Given the description of an element on the screen output the (x, y) to click on. 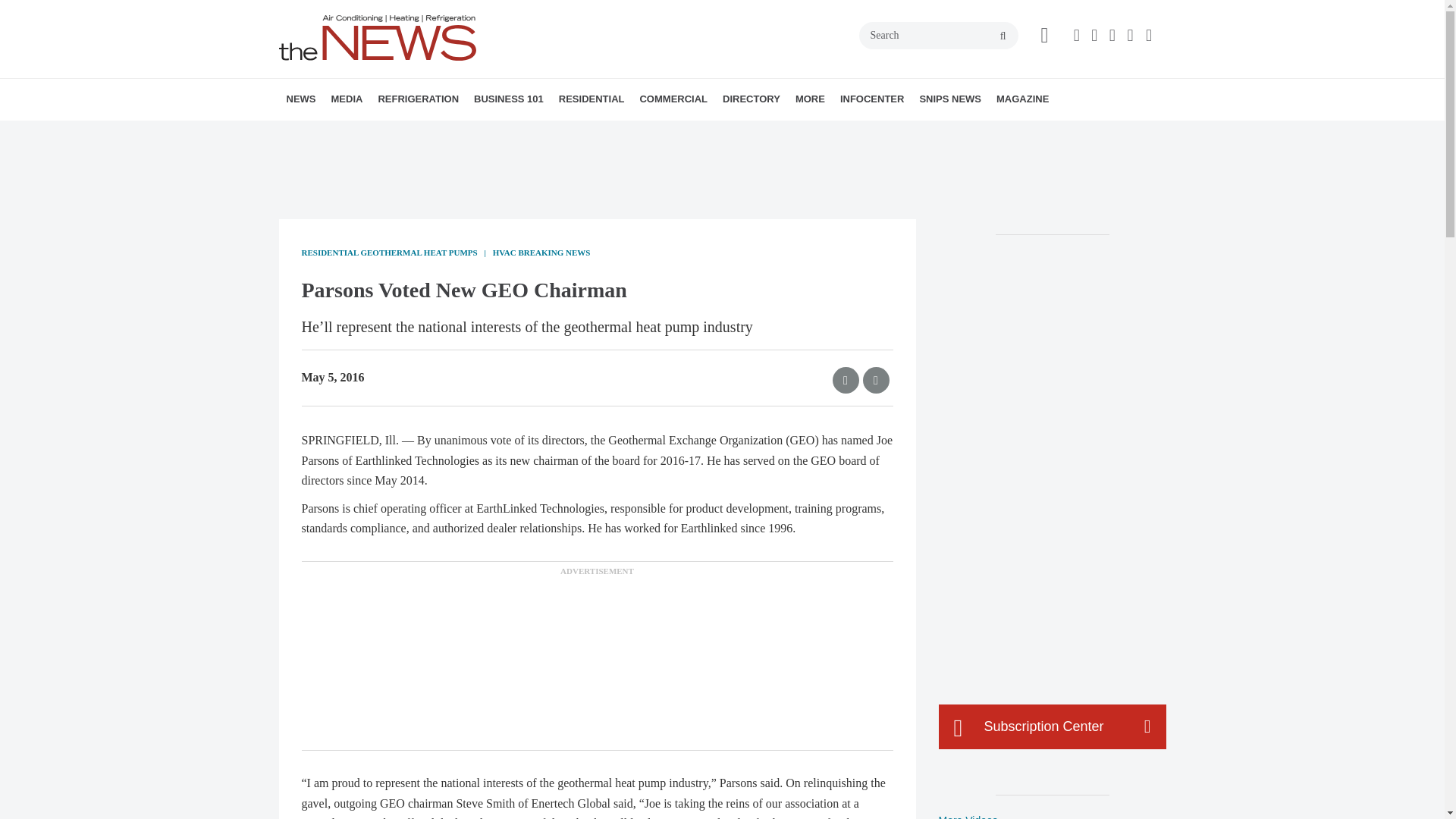
HVAC DATA (391, 132)
AHR EXPO 2024 VIDEOS (424, 132)
BUSINESS 101 (508, 98)
REFRIGERATION (417, 98)
WEBINARS (436, 132)
REFRIGERANTS (464, 132)
Search (938, 35)
VIDEOS (417, 132)
DUCTWORD PUZZLE (449, 132)
BREAKING NEWS (373, 132)
NEW HVAC PRODUCTS (380, 132)
MANUFACTURER REPORTS (386, 132)
search (1002, 36)
PODCASTS (430, 132)
MEDIA (346, 98)
